Given the description of an element on the screen output the (x, y) to click on. 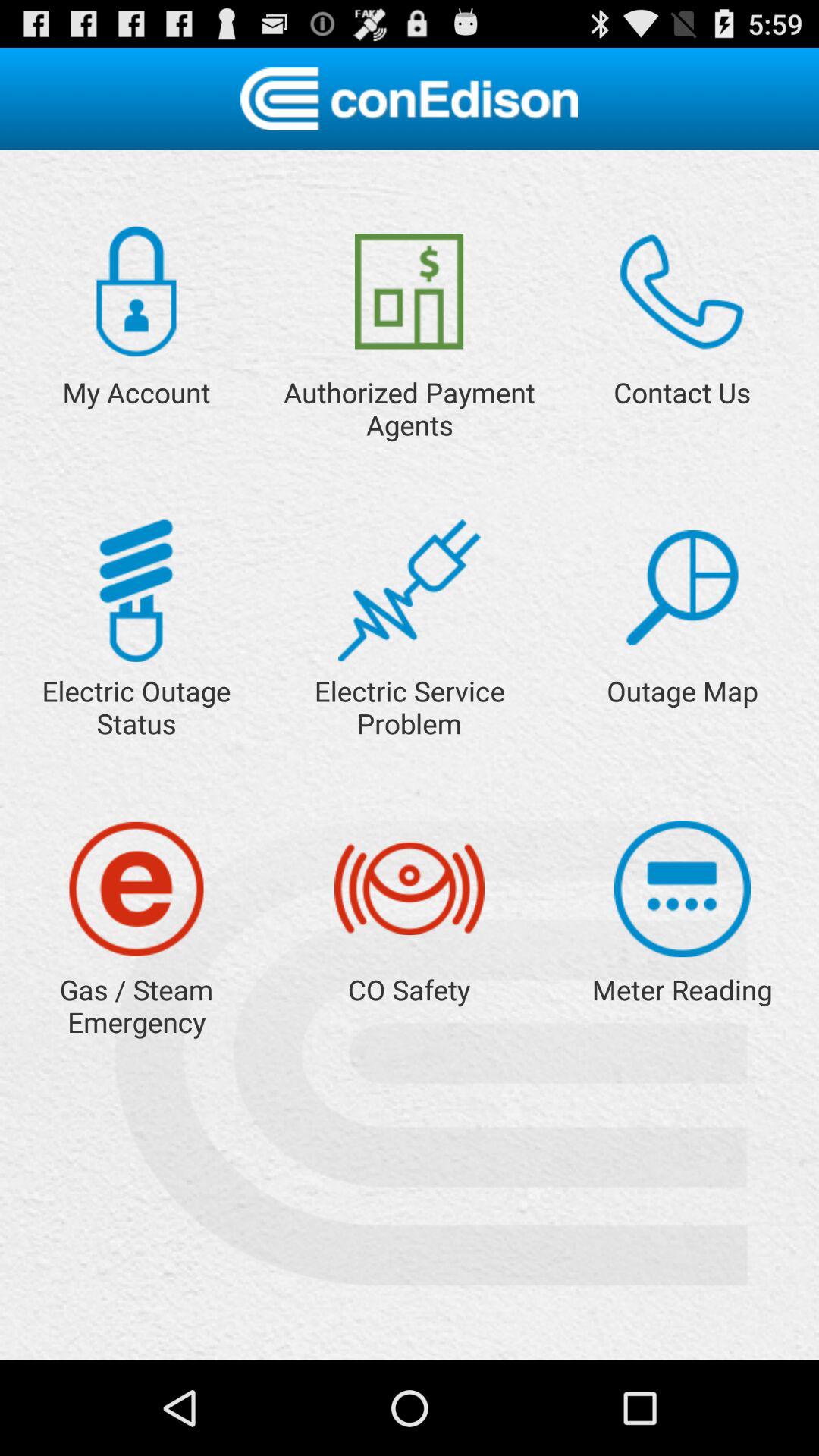
select app to the left of the contact us item (408, 291)
